Given the description of an element on the screen output the (x, y) to click on. 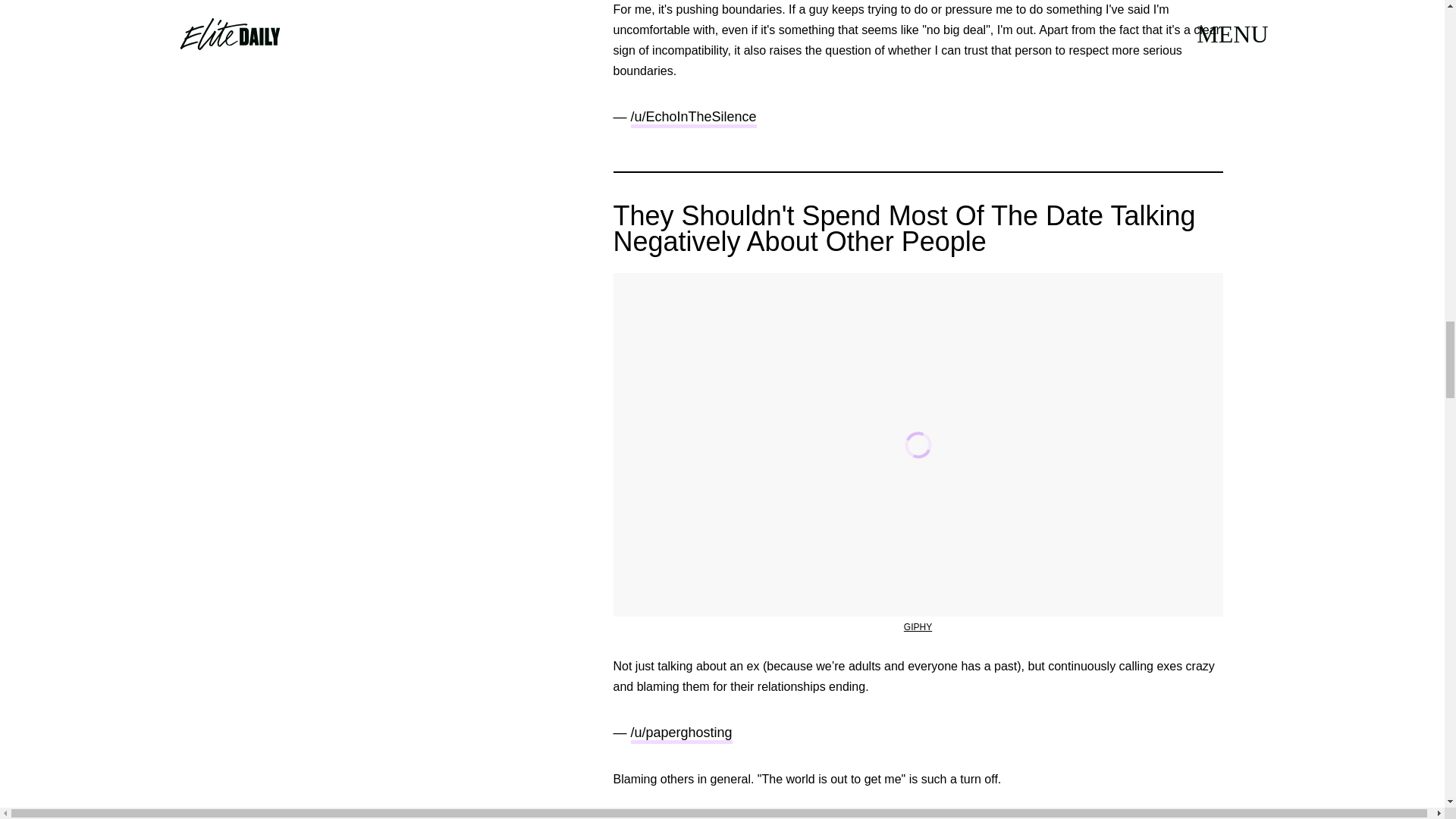
GIPHY (917, 626)
